Given the description of an element on the screen output the (x, y) to click on. 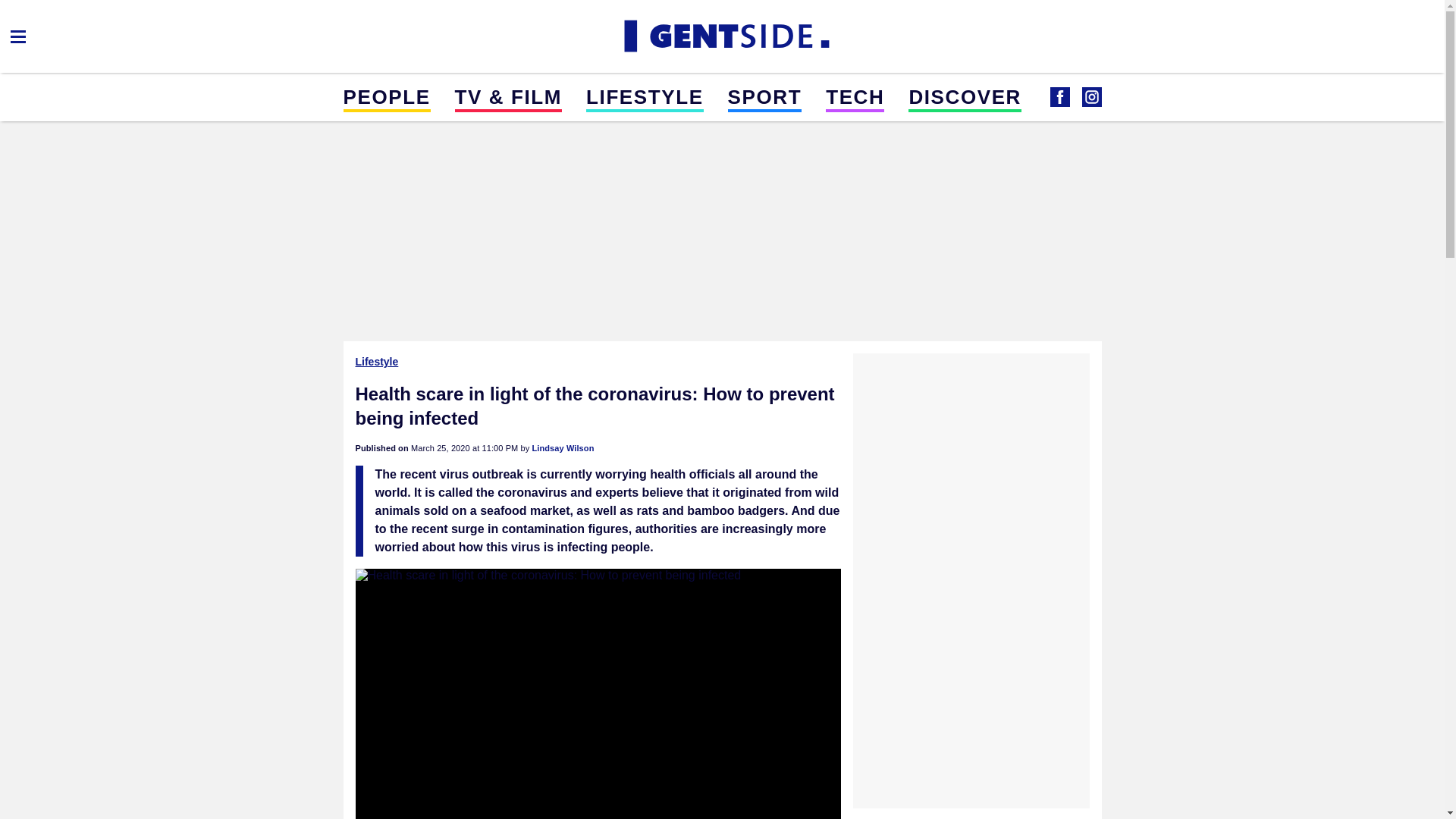
SPORT (765, 96)
Gentside UK (1090, 96)
Lifestyle (378, 361)
PEOPLE (385, 96)
Gentside UK (721, 36)
LIFESTYLE (644, 96)
Gentside Lifestyle (1058, 96)
DISCOVER (965, 96)
TECH (854, 96)
